Given the description of an element on the screen output the (x, y) to click on. 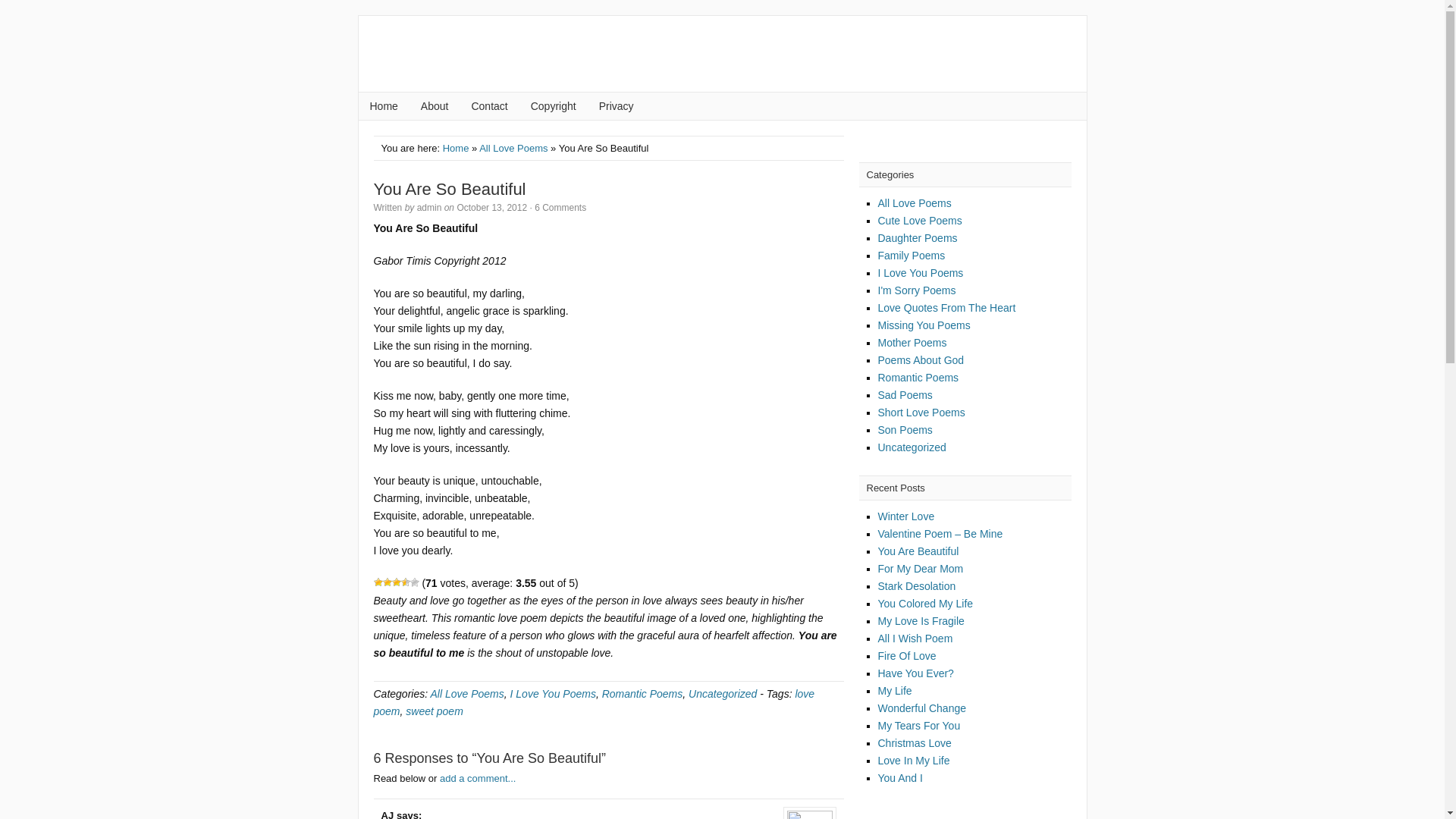
Love Quotes From The Heart (946, 307)
Home (383, 105)
View Home (455, 147)
lovepoemsfromheart.com (722, 53)
add a comment... (477, 778)
View all items in All Love Poems (513, 147)
sweet poem (434, 711)
I'm Sorry Poems (916, 290)
About (434, 105)
Contact (489, 105)
Missing You Poems (924, 325)
4 Stars (404, 582)
Family Poems (910, 255)
admin (429, 207)
3 Stars (395, 582)
